Given the description of an element on the screen output the (x, y) to click on. 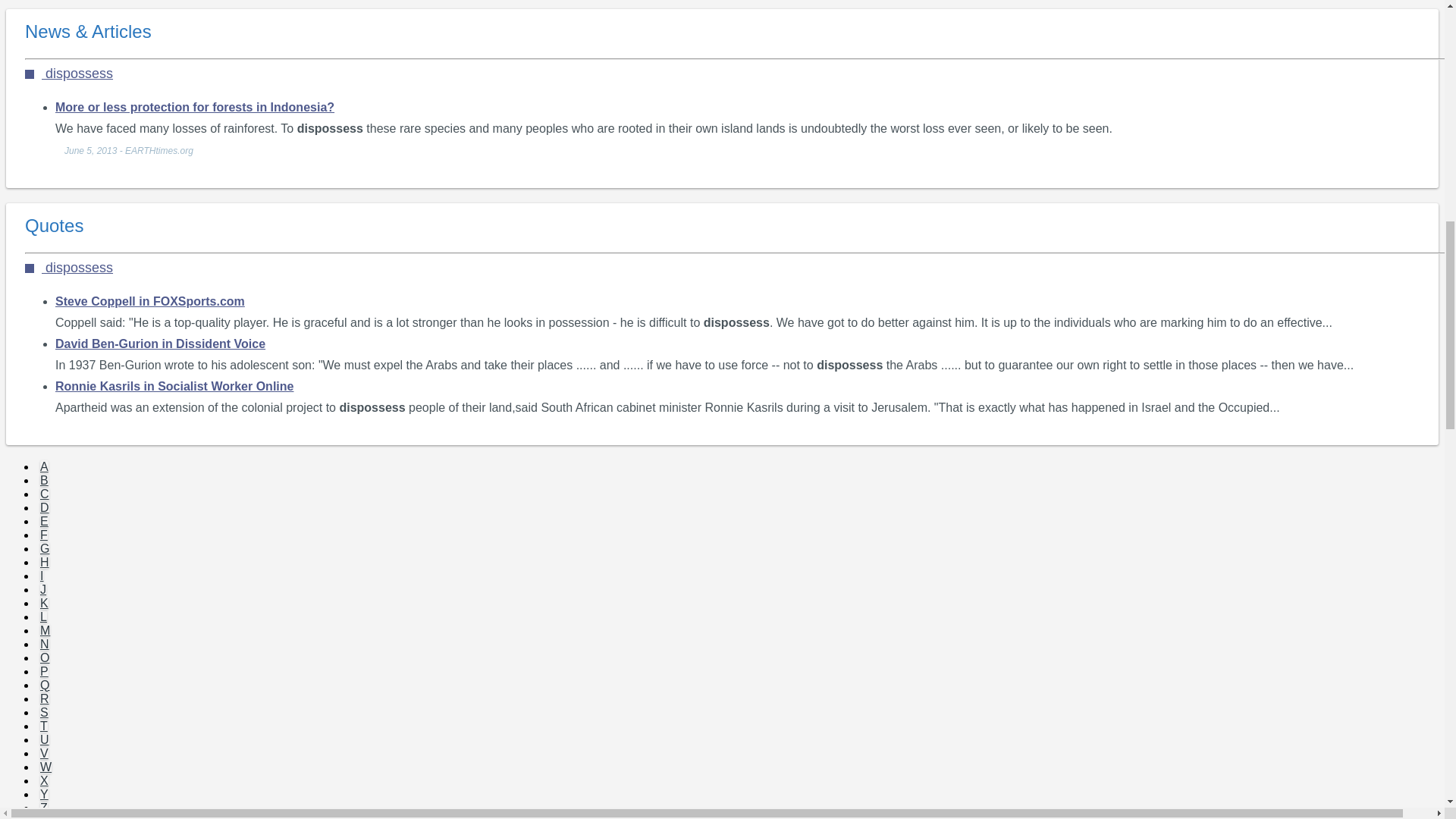
More or less protection for forests in Indonesia? (194, 106)
David Ben-Gurion in Dissident Voice (159, 342)
Ronnie Kasrils in Socialist Worker Online (174, 385)
Steve Coppell in FOXSports.com (149, 300)
  dispossess (68, 266)
  dispossess (68, 72)
